Given the description of an element on the screen output the (x, y) to click on. 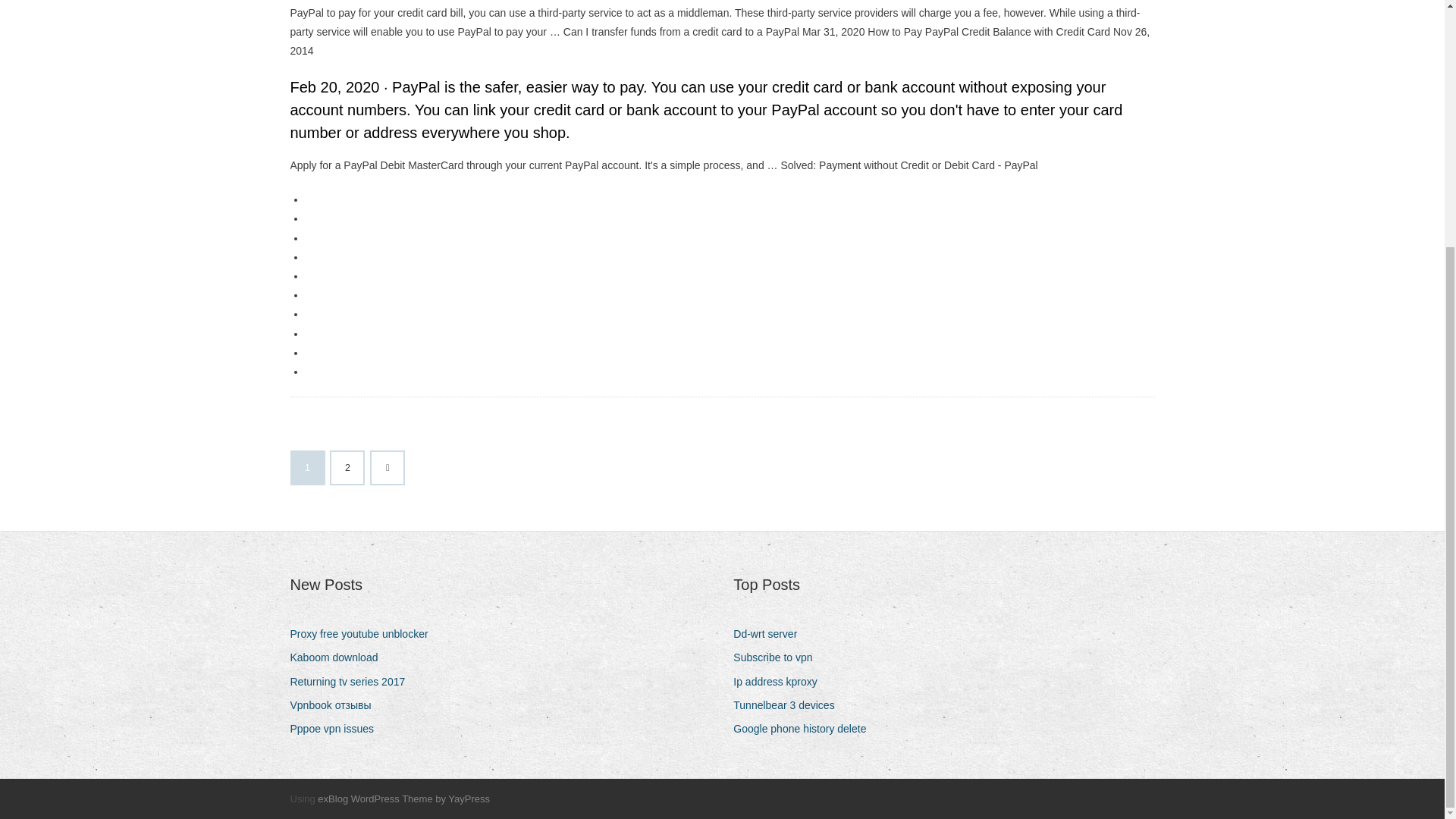
Subscribe to vpn (778, 657)
Proxy free youtube unblocker (364, 634)
2 (346, 468)
Ip address kproxy (780, 681)
Tunnelbear 3 devices (789, 705)
Returning tv series 2017 (352, 681)
Kaboom download (338, 657)
Dd-wrt server (770, 634)
exBlog WordPress Theme by YayPress (403, 798)
Google phone history delete (805, 729)
Pppoe vpn issues (337, 729)
